Given the description of an element on the screen output the (x, y) to click on. 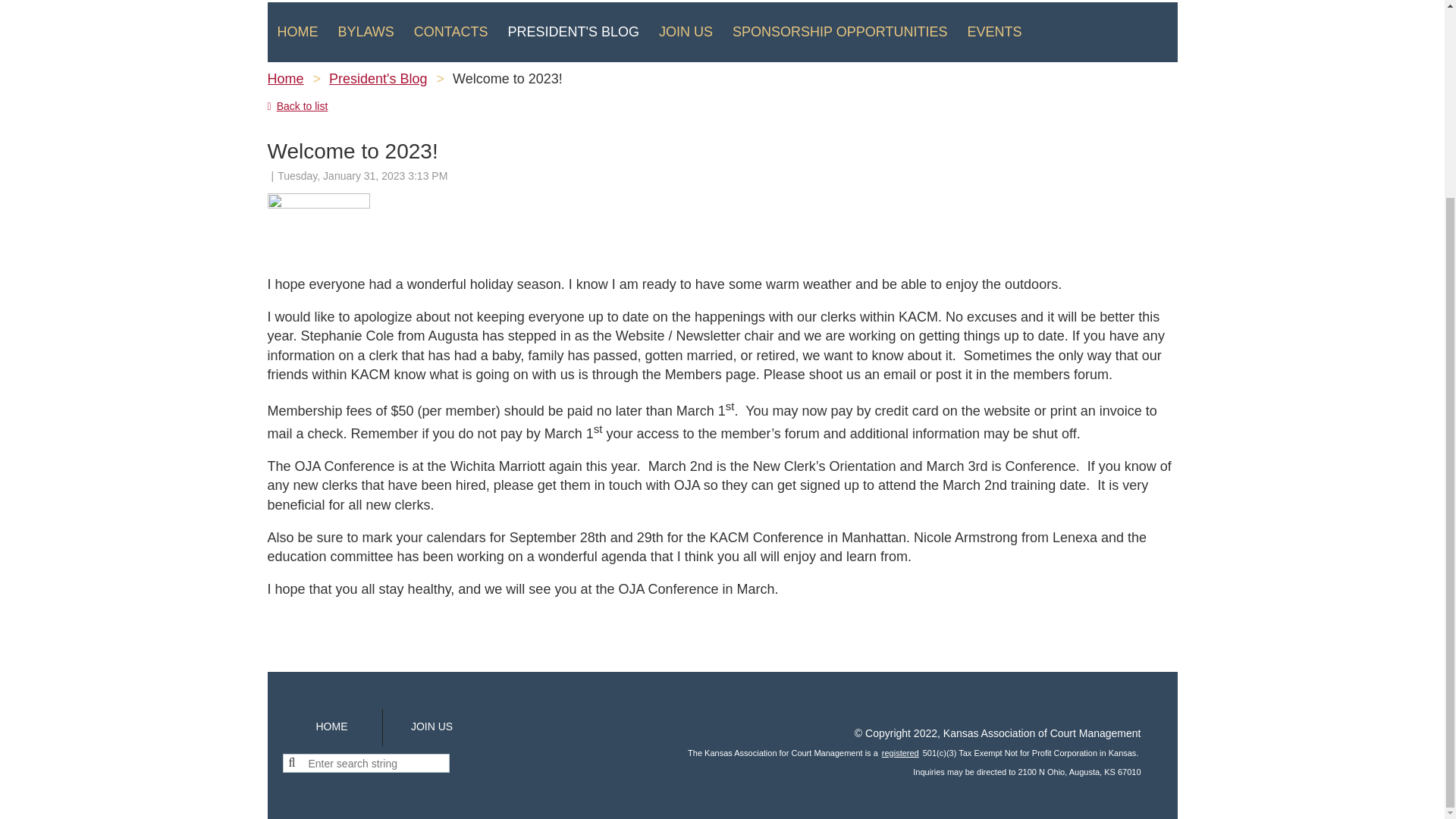
Contacts (450, 32)
Home (284, 78)
Back to list (296, 105)
PRESIDENT'S BLOG (573, 32)
Sponsorship Opportunities (839, 32)
JOIN US (431, 727)
HOME (296, 32)
Bylaws (365, 32)
Home (296, 32)
BYLAWS (365, 32)
President's Blog (378, 78)
EVENTS (993, 32)
President's Blog (573, 32)
registered (900, 752)
CONTACTS (450, 32)
